Given the description of an element on the screen output the (x, y) to click on. 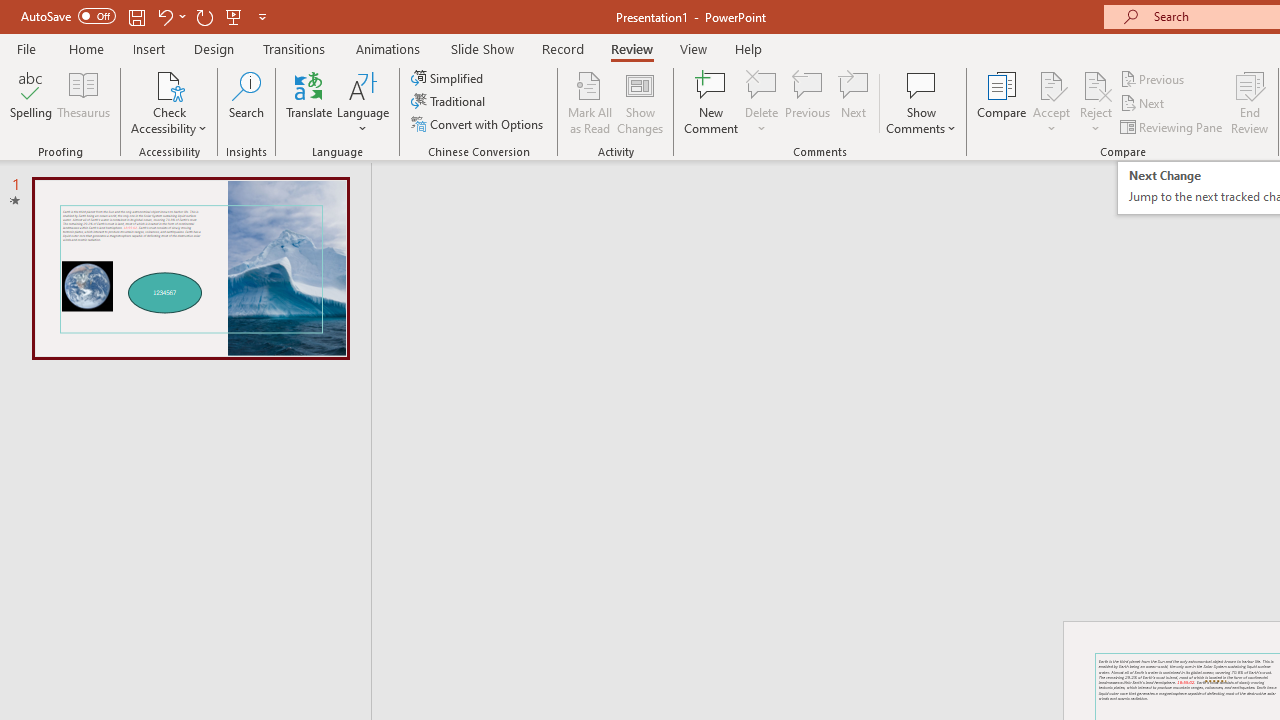
Delete (762, 102)
Accept (1051, 102)
Show Changes (639, 102)
Delete (762, 84)
Show Comments (921, 102)
Translate (309, 102)
Previous (1153, 78)
Traditional (449, 101)
